Given the description of an element on the screen output the (x, y) to click on. 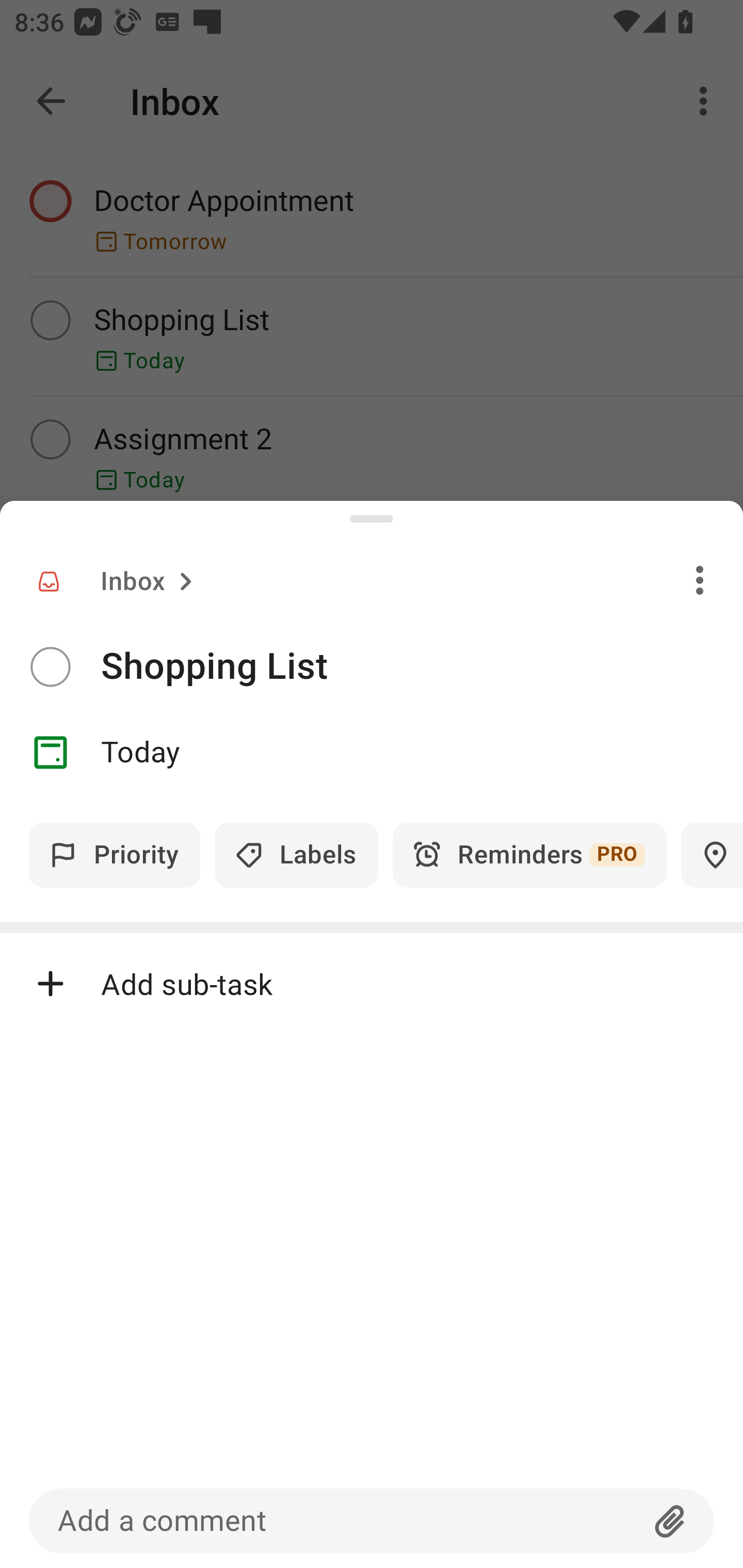
Overflow menu (699, 580)
Complete (50, 667)
Shopping List​ (422, 666)
Date Today (371, 752)
Priority (113, 855)
Labels (296, 855)
Reminders PRO (529, 855)
Locations PRO (712, 855)
Add sub-task (371, 983)
Add a comment Attachment (371, 1520)
Attachment (670, 1520)
